Given the description of an element on the screen output the (x, y) to click on. 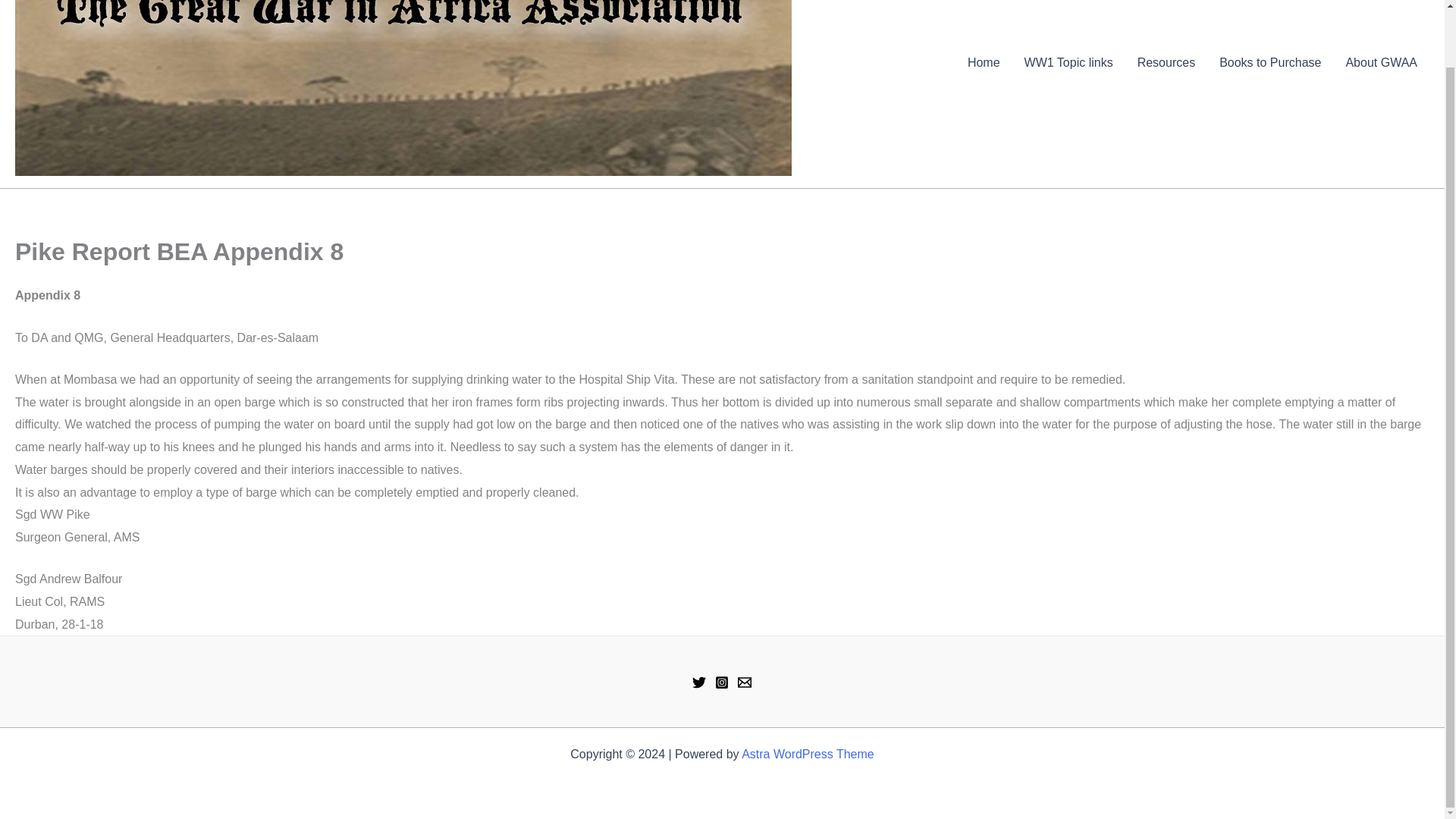
Resources (1166, 62)
Books to Purchase (1270, 62)
About GWAA (1381, 62)
Home (983, 62)
WW1 Topic links (1068, 62)
